Given the description of an element on the screen output the (x, y) to click on. 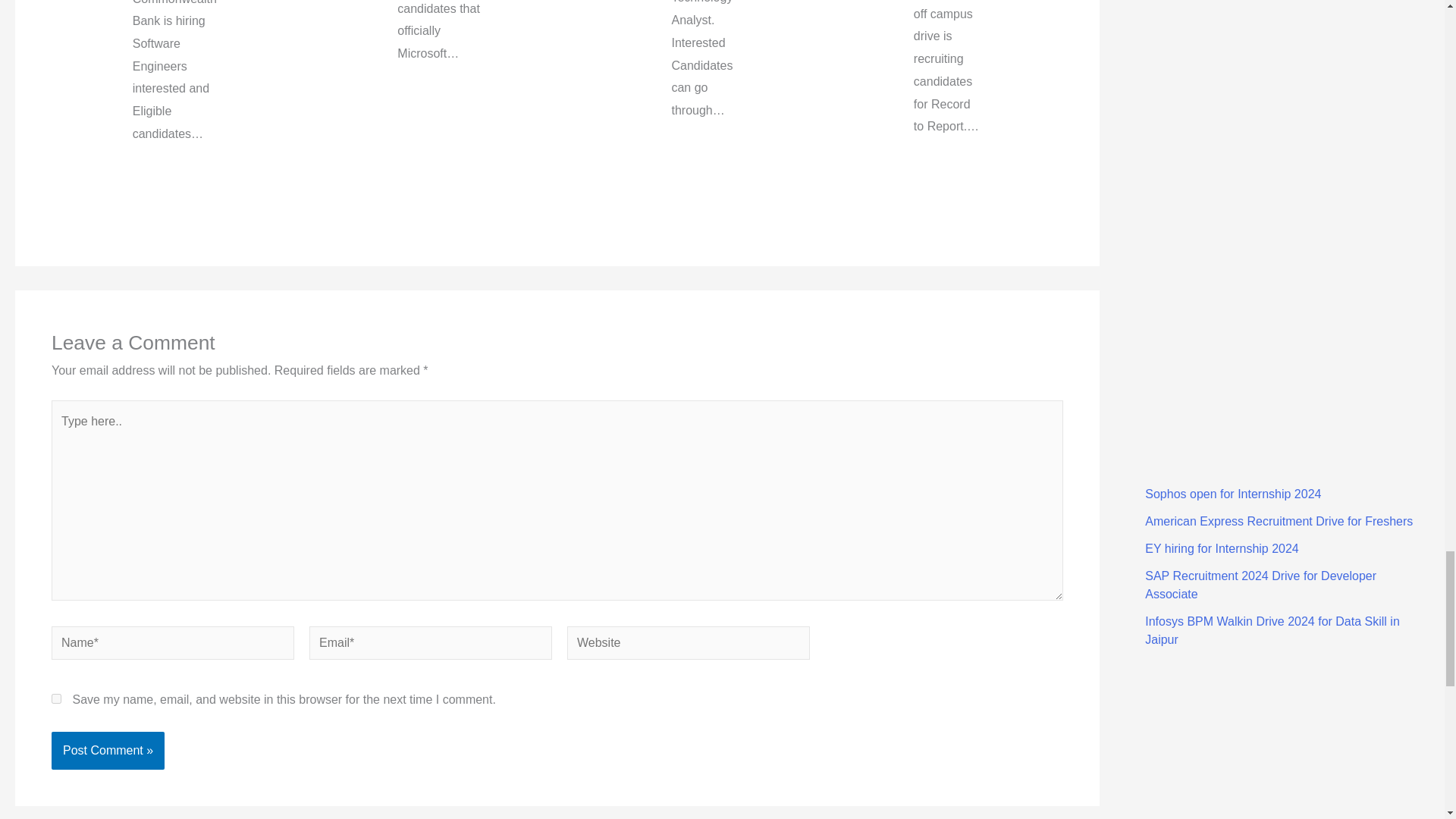
yes (55, 697)
